Given the description of an element on the screen output the (x, y) to click on. 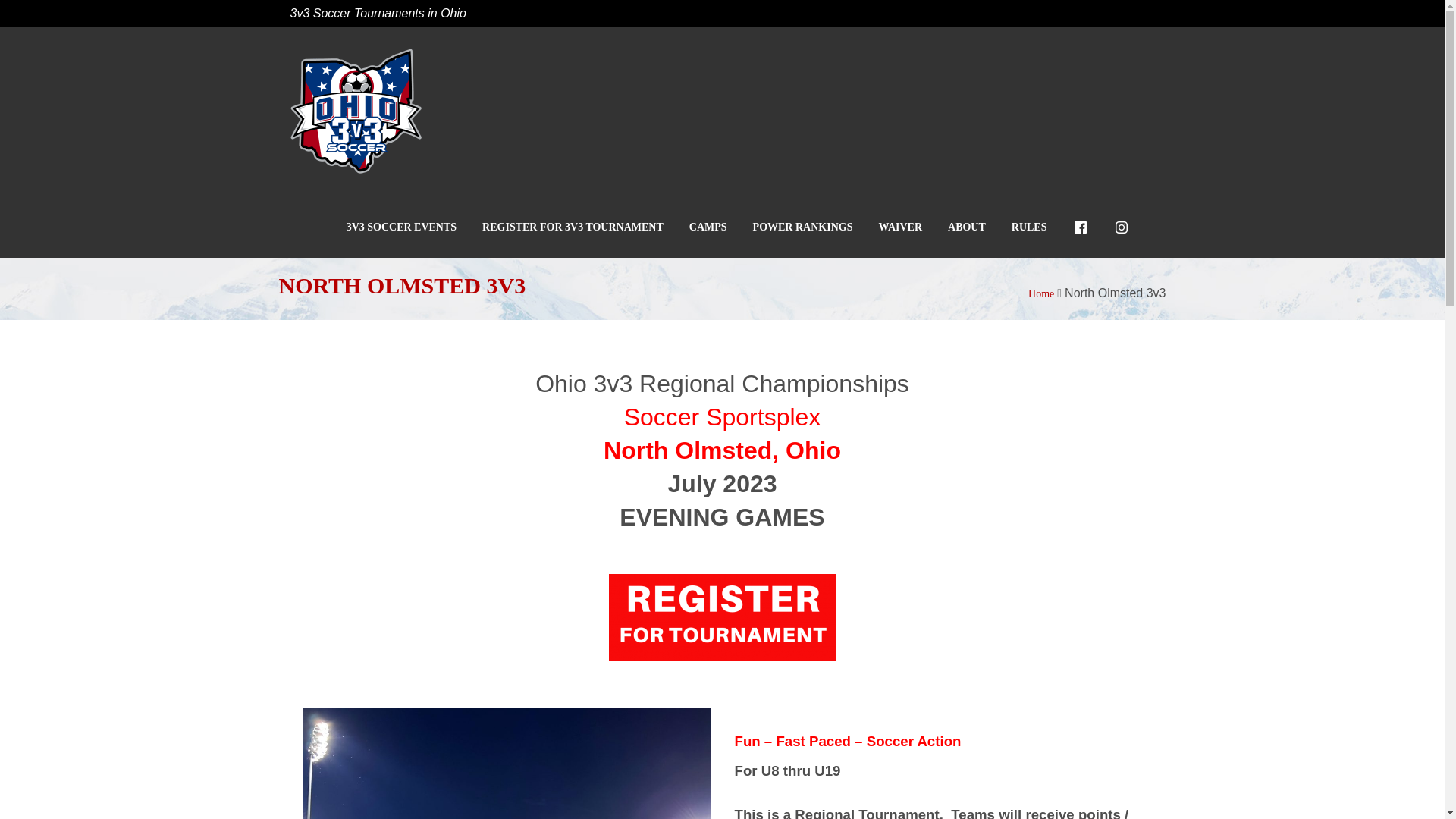
REGISTER FOR 3V3 TOURNAMENT (572, 227)
3V3 SOCCER EVENTS (401, 227)
Ohio 3v3 Soccer Tournaments (355, 111)
POWER RANKINGS (802, 227)
Home (1040, 293)
